Given the description of an element on the screen output the (x, y) to click on. 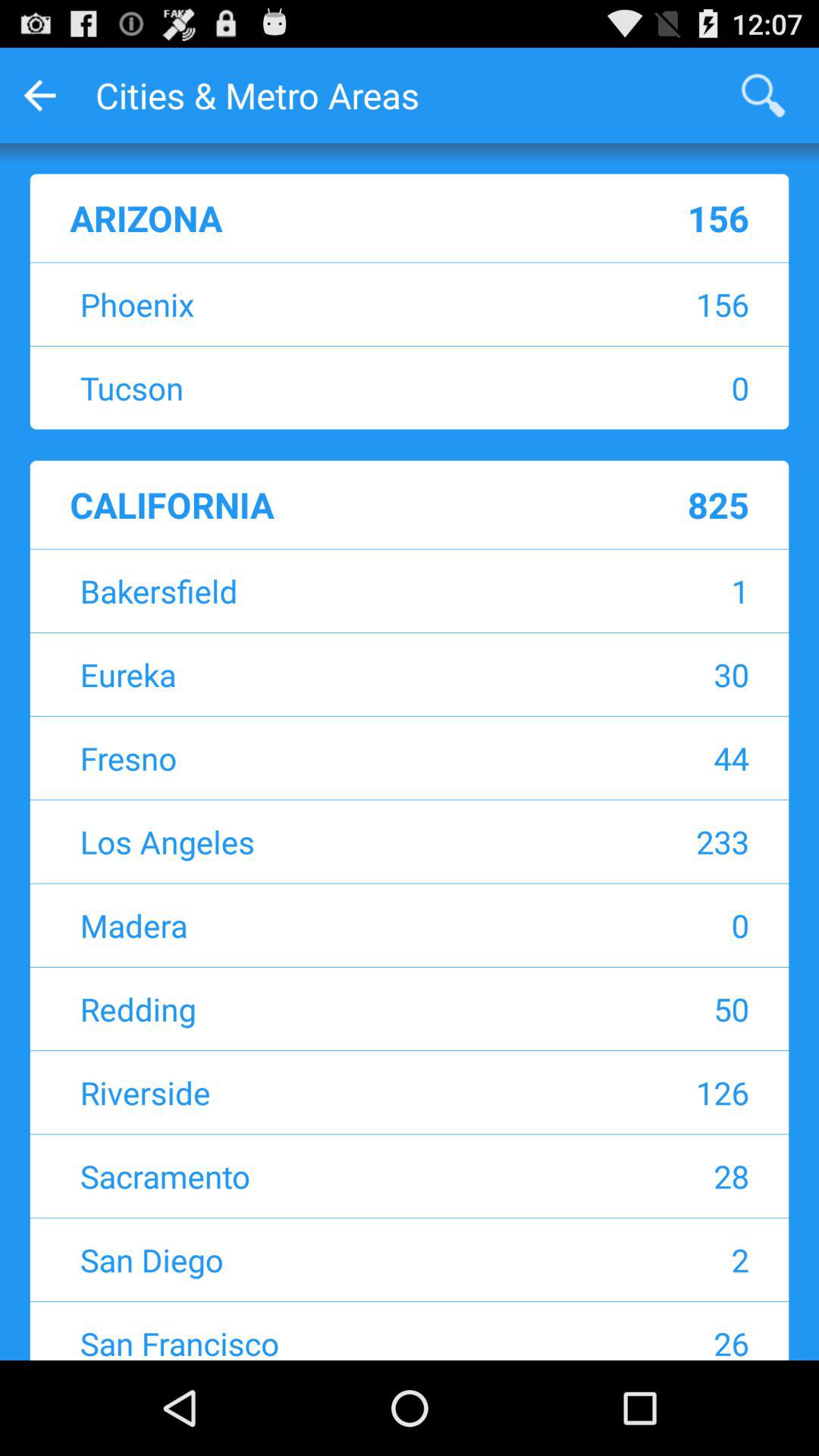
turn off app above sacramento item (649, 1092)
